Given the description of an element on the screen output the (x, y) to click on. 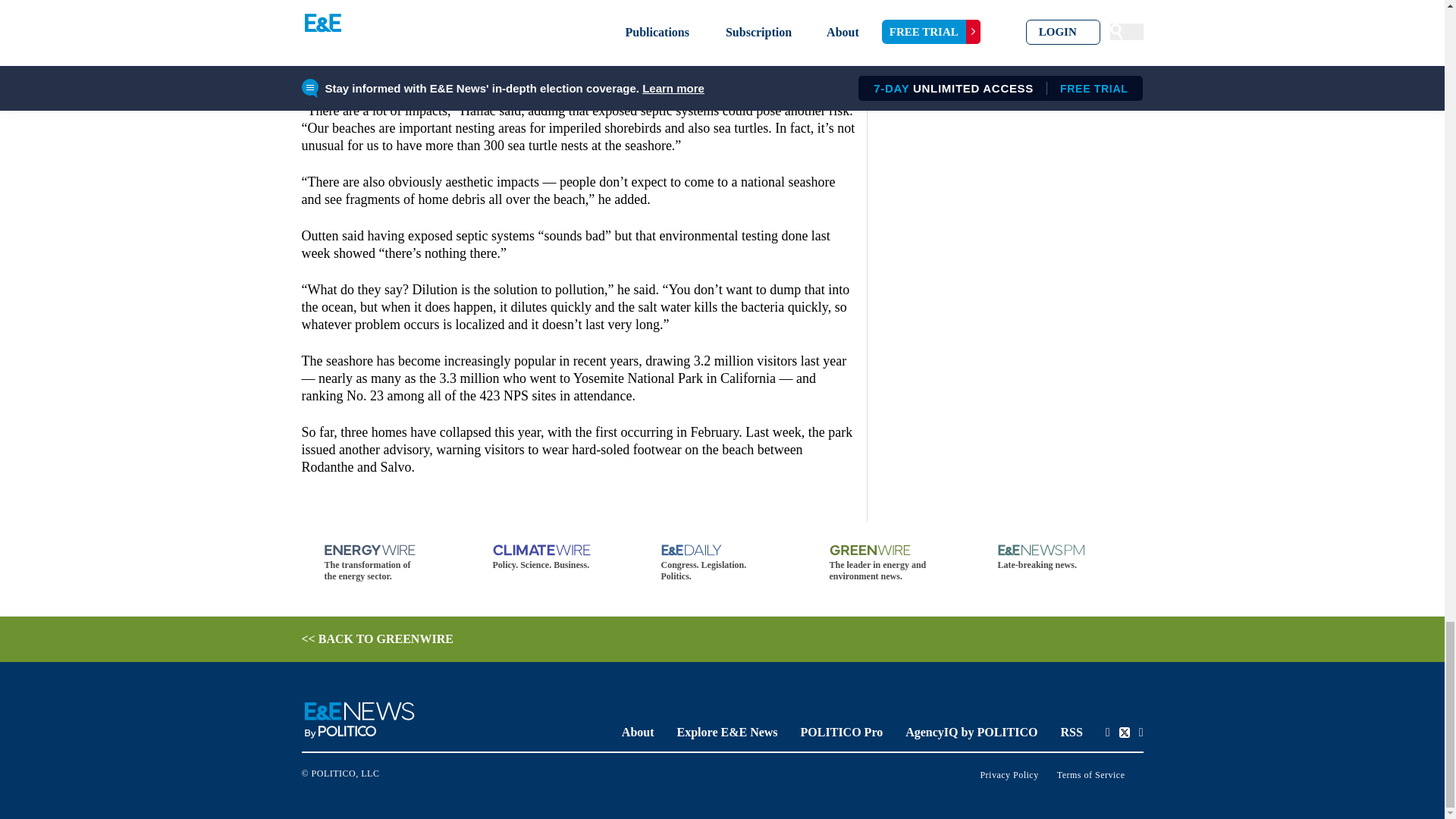
About (637, 731)
Policy. Science. Business. (554, 556)
The leader in energy and environment news. (890, 562)
Congress. Legislation. Politics. (722, 562)
The transformation of the energy sector. (385, 562)
Late-breaking news. (1058, 556)
